Given the description of an element on the screen output the (x, y) to click on. 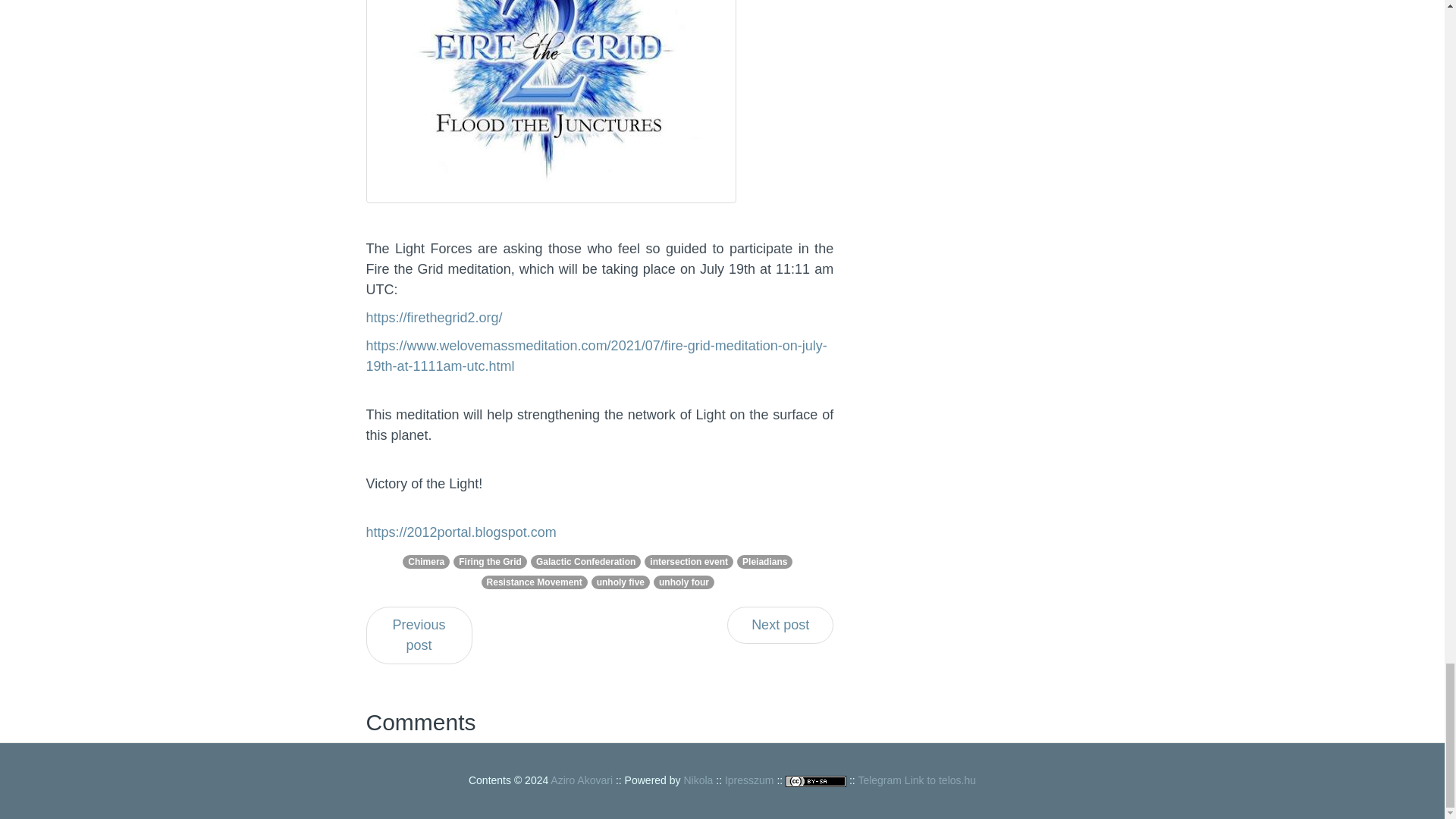
Chimera (425, 561)
Inflection Point (779, 624)
unholy five (620, 582)
Pleiadians (764, 561)
Next post (779, 624)
unholy four (684, 582)
Galactic Confederation (584, 561)
Resistance Movement (534, 582)
intersection event (688, 561)
Firing the Grid (489, 561)
Previous post (418, 635)
